Given the description of an element on the screen output the (x, y) to click on. 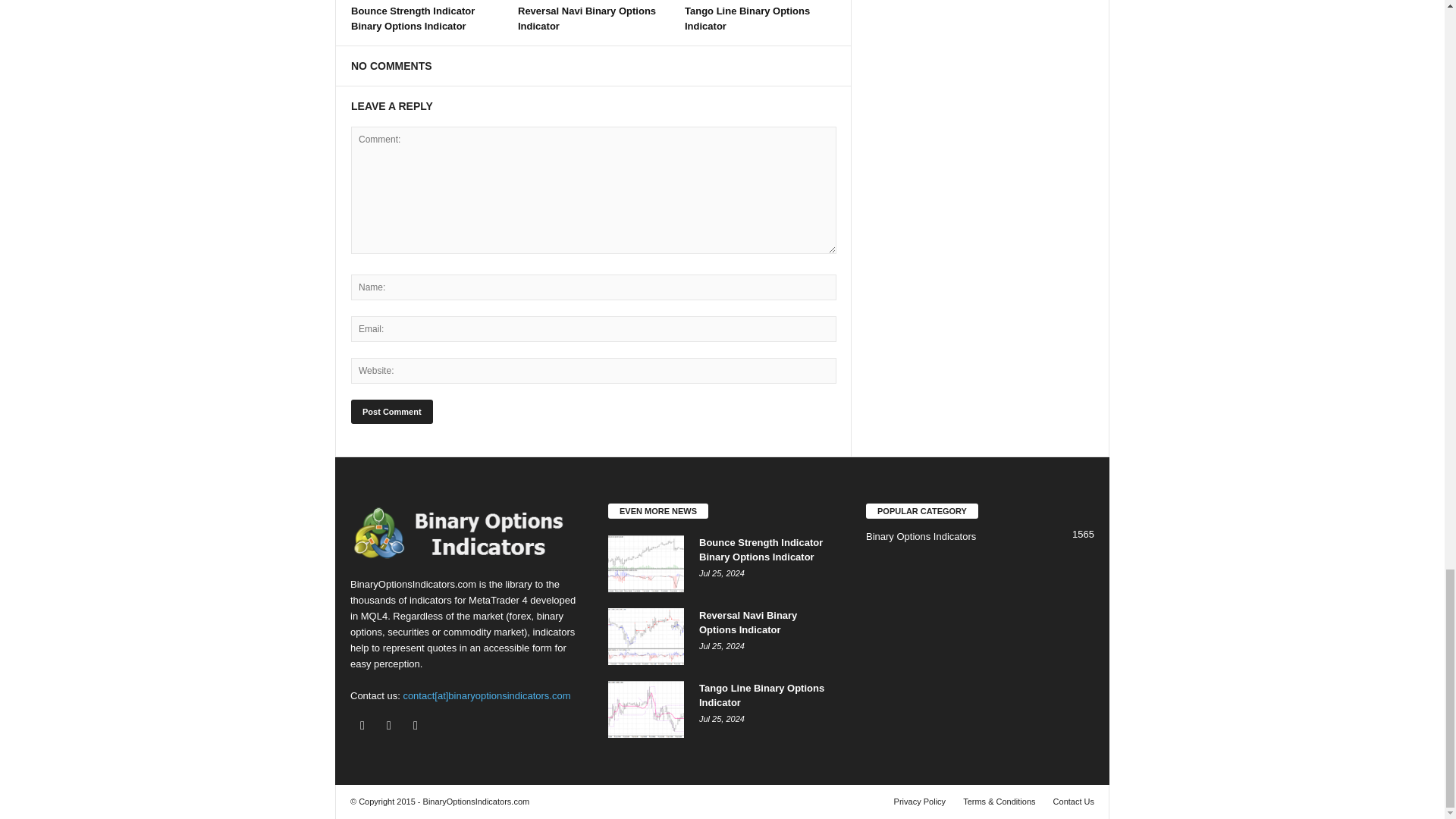
Bounce Strength Indicator Binary Options Indicator (412, 17)
Bounce Strength Indicator Binary Options Indicator (412, 17)
Post Comment (391, 411)
Tango Line Binary Options Indicator (746, 17)
Reversal Navi Binary Options Indicator (587, 17)
Tango Line Binary Options Indicator (746, 17)
Reversal Navi Binary Options Indicator (587, 17)
